Given the description of an element on the screen output the (x, y) to click on. 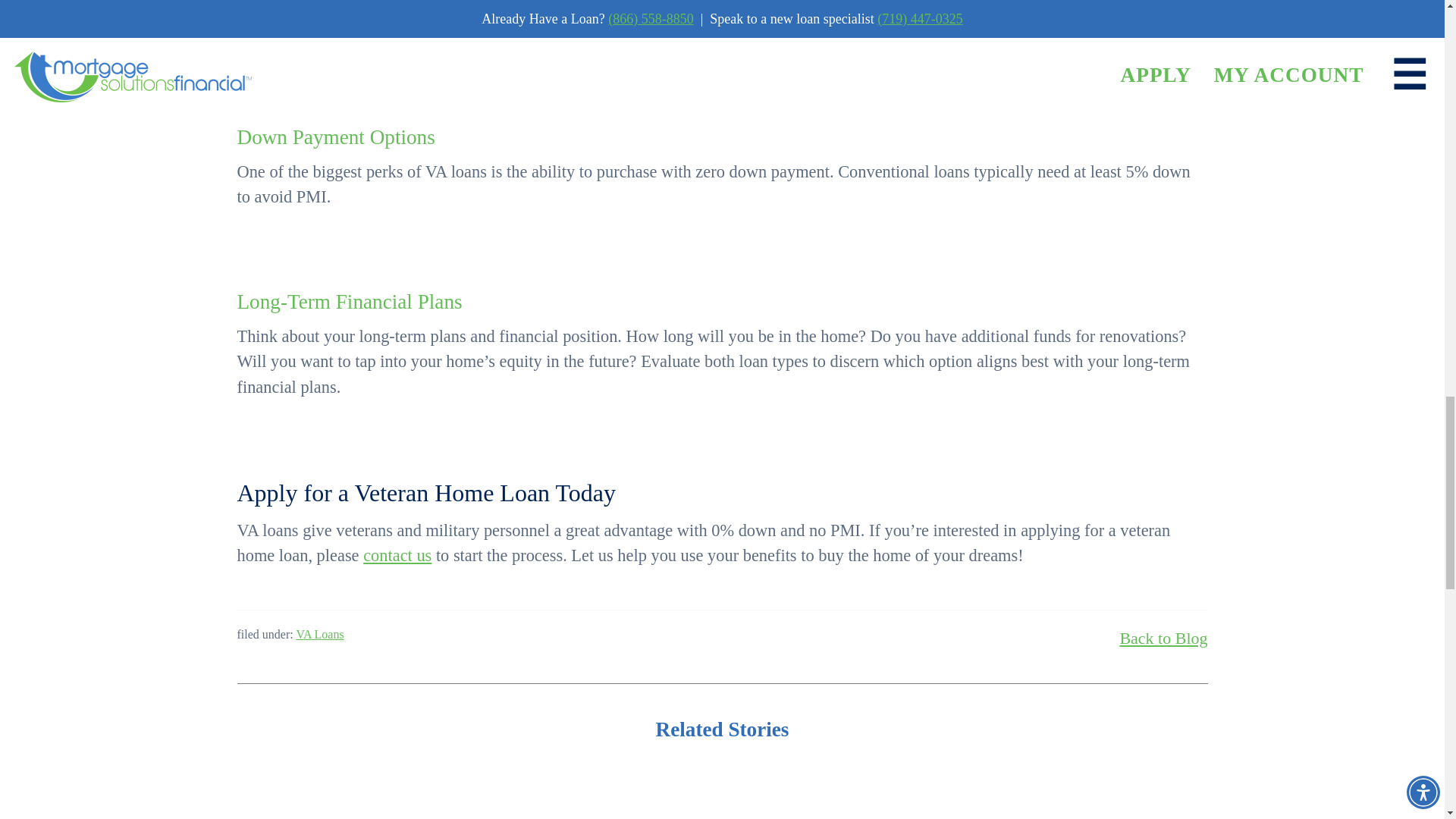
contact us (396, 555)
VA Loans (319, 634)
Back to Blog (1163, 637)
